Given the description of an element on the screen output the (x, y) to click on. 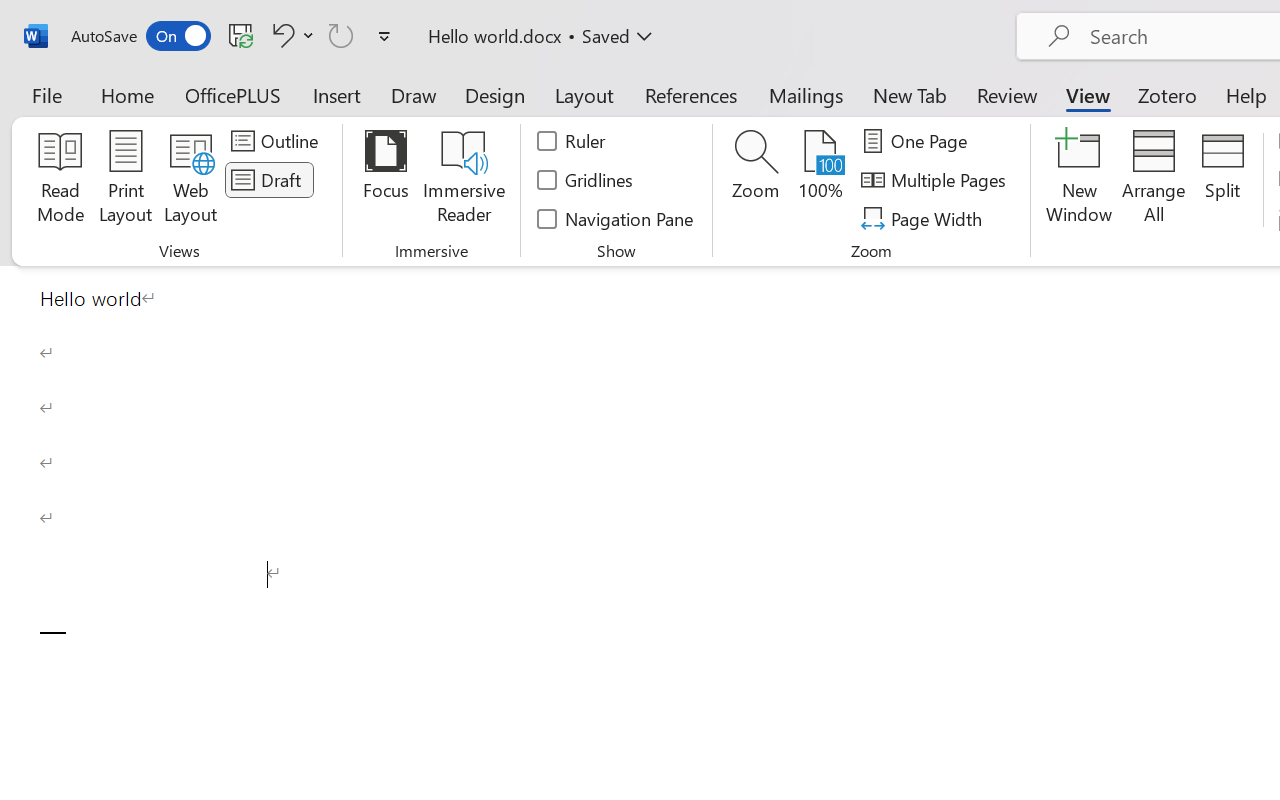
Can't Repeat (341, 35)
Undo Paragraph Formatting (280, 35)
Arrange All (1153, 179)
Gridlines (586, 179)
Navigation Pane (616, 218)
OfficePLUS (233, 94)
Print Layout (125, 179)
Ruler (572, 141)
Zotero (1166, 94)
Draft (269, 179)
Split (1222, 179)
AutoSave (140, 35)
